Given the description of an element on the screen output the (x, y) to click on. 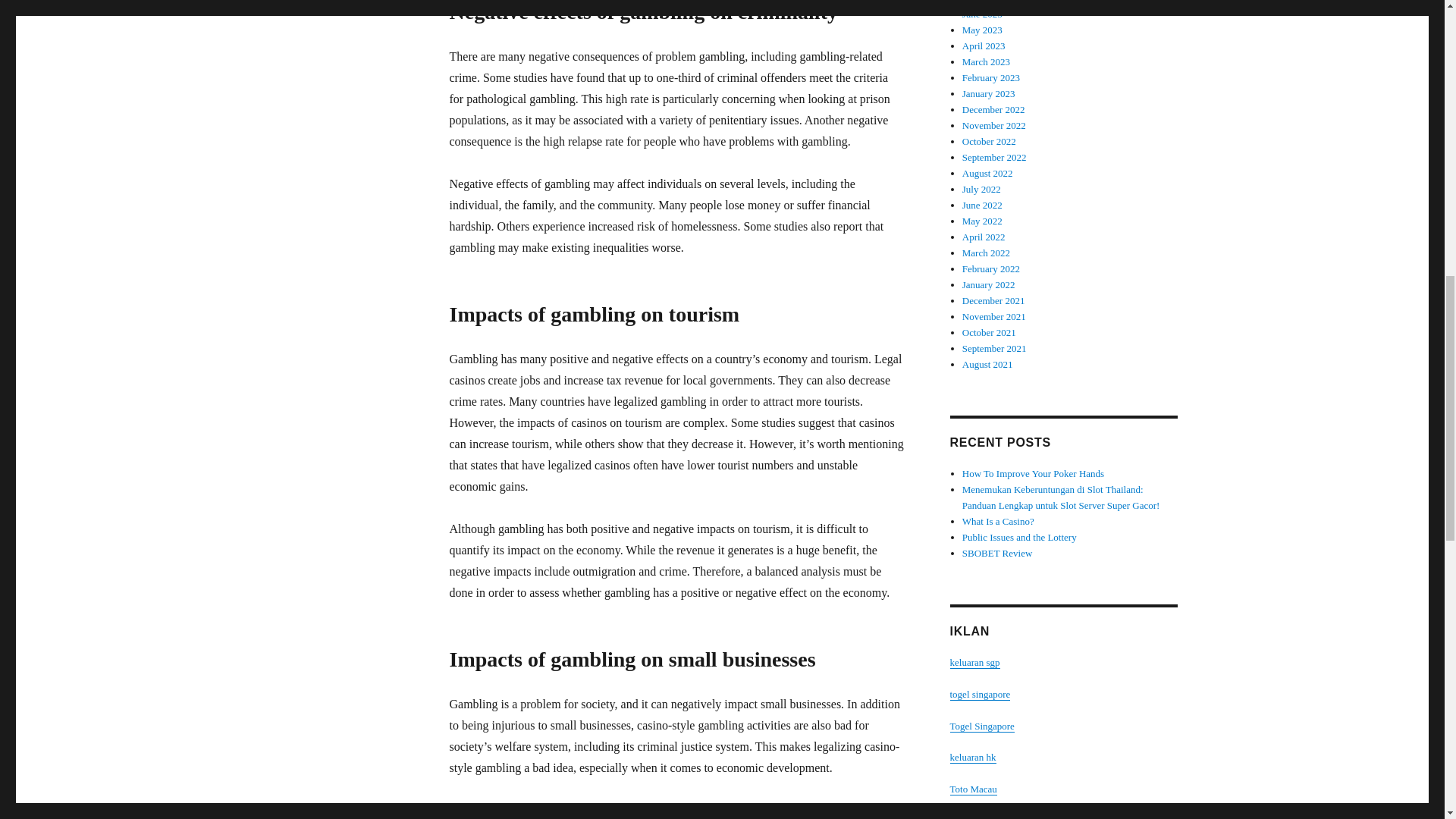
May 2023 (982, 30)
June 2023 (982, 13)
July 2023 (981, 2)
April 2023 (984, 45)
